Given the description of an element on the screen output the (x, y) to click on. 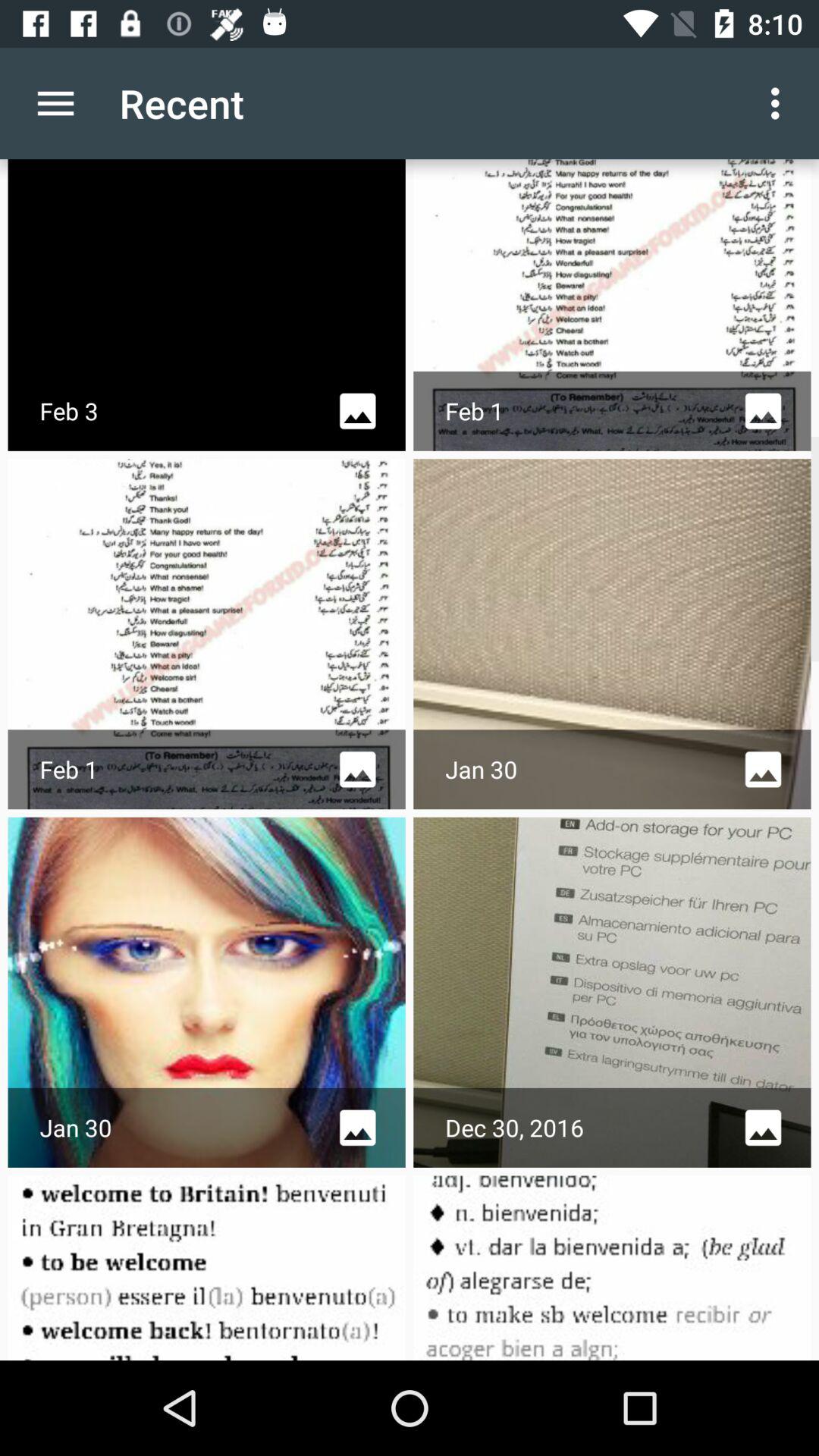
launch icon to the left of recent icon (55, 103)
